Given the description of an element on the screen output the (x, y) to click on. 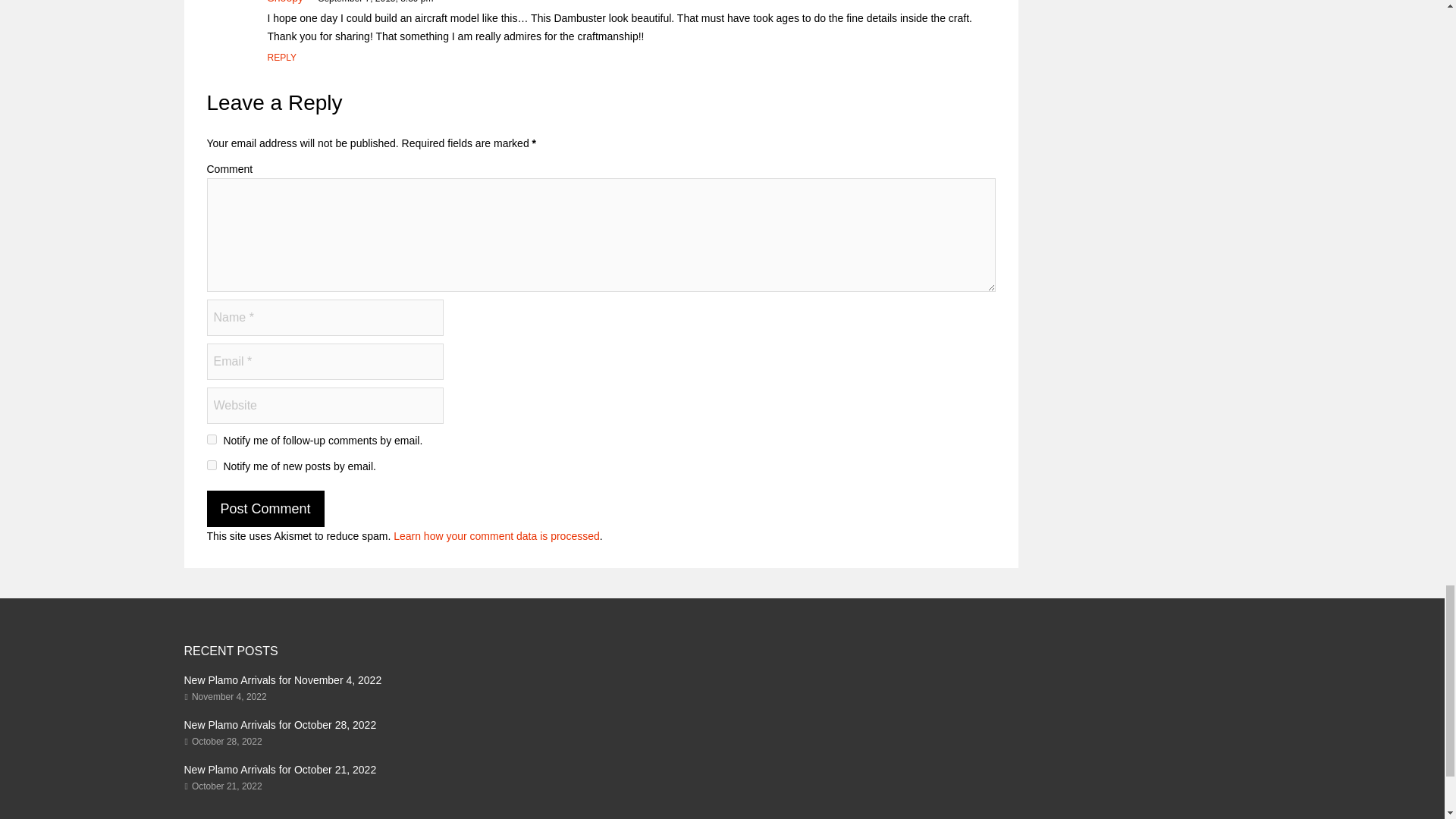
subscribe (210, 439)
subscribe (210, 465)
Post Comment (264, 508)
